Given the description of an element on the screen output the (x, y) to click on. 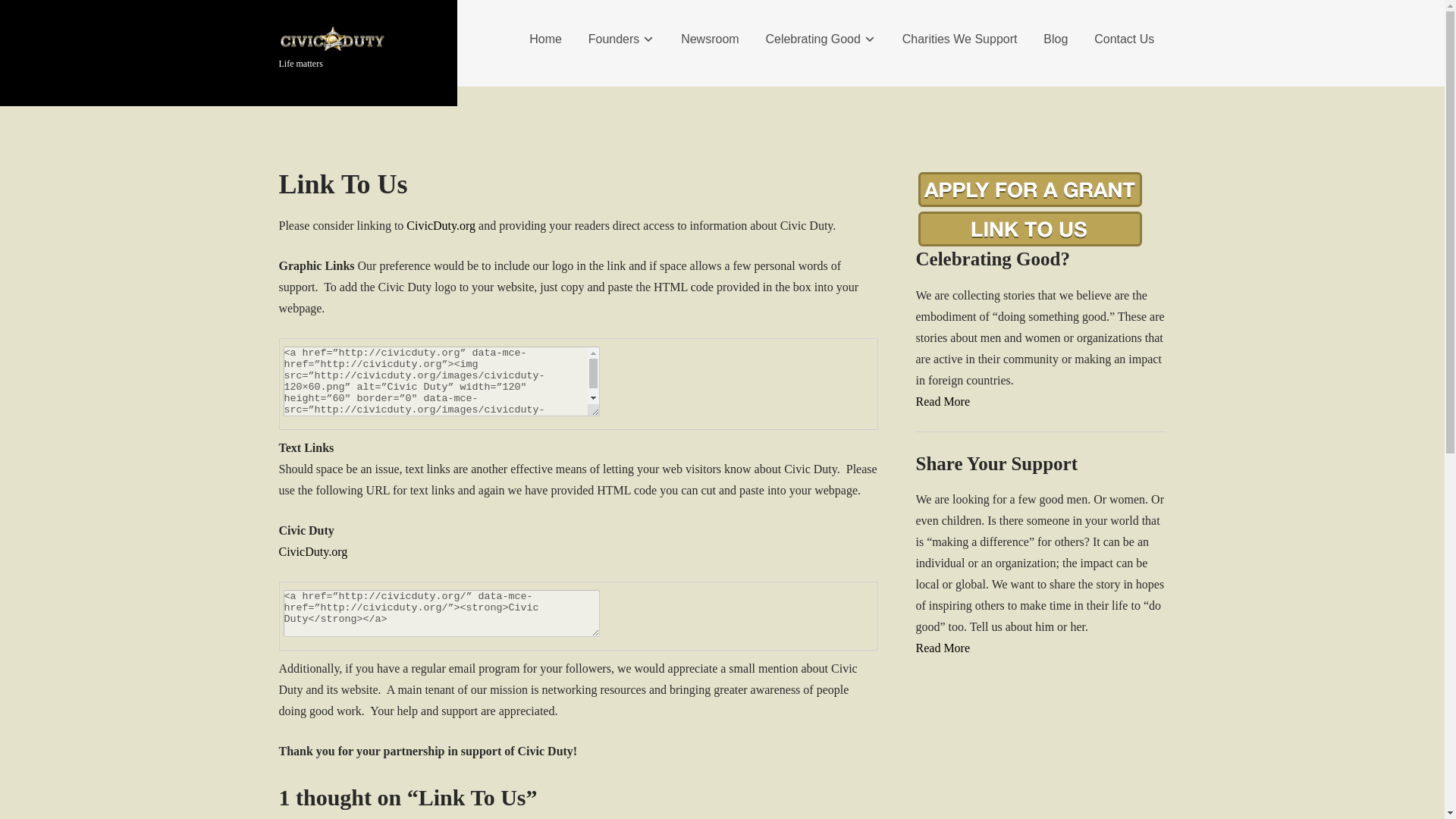
Charities We Support (960, 39)
Founders (621, 39)
Newsroom (710, 39)
Home (545, 39)
Celebrating Good (820, 39)
Blog (1055, 39)
CivicDuty.org (313, 551)
Contact Us (1124, 39)
Read More (943, 647)
CivicDuty.org (441, 225)
Read More (943, 400)
Life matters (332, 61)
